Given the description of an element on the screen output the (x, y) to click on. 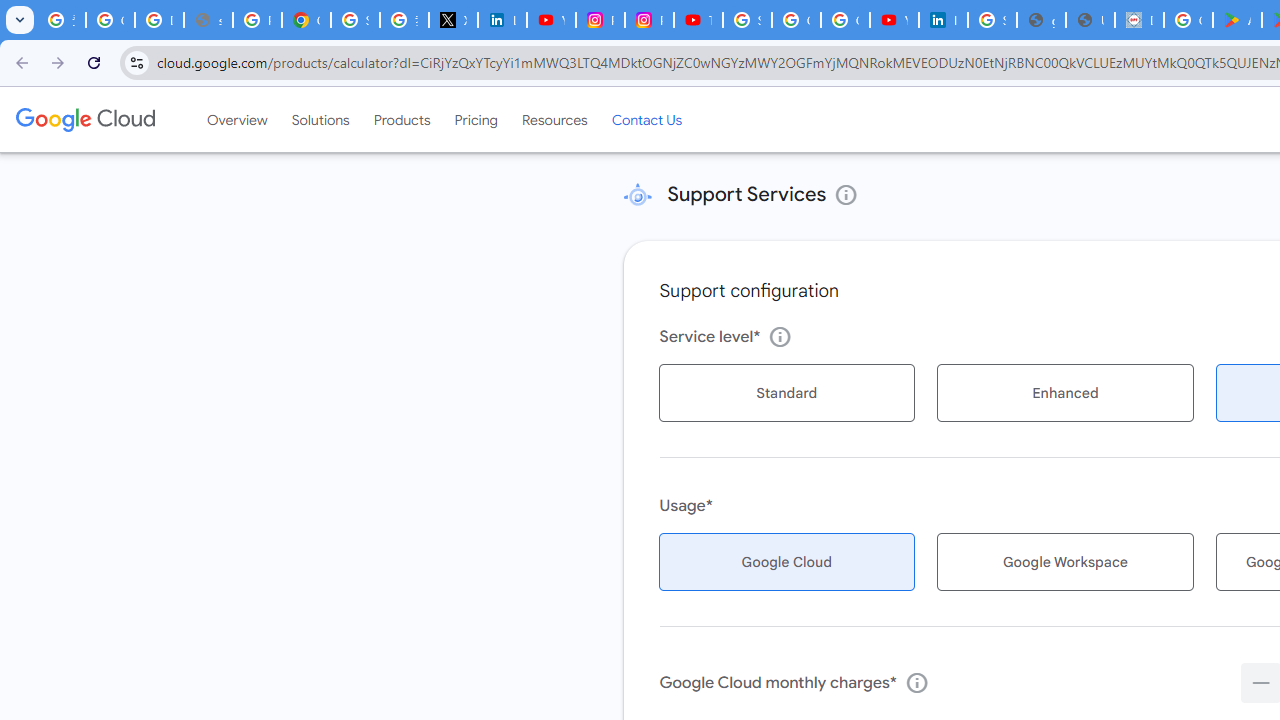
View details (845, 194)
Data Privacy Framework (1138, 20)
Privacy Help Center - Policies Help (257, 20)
Pricing (476, 119)
Sign in - Google Accounts (355, 20)
User Details (1090, 20)
